Given the description of an element on the screen output the (x, y) to click on. 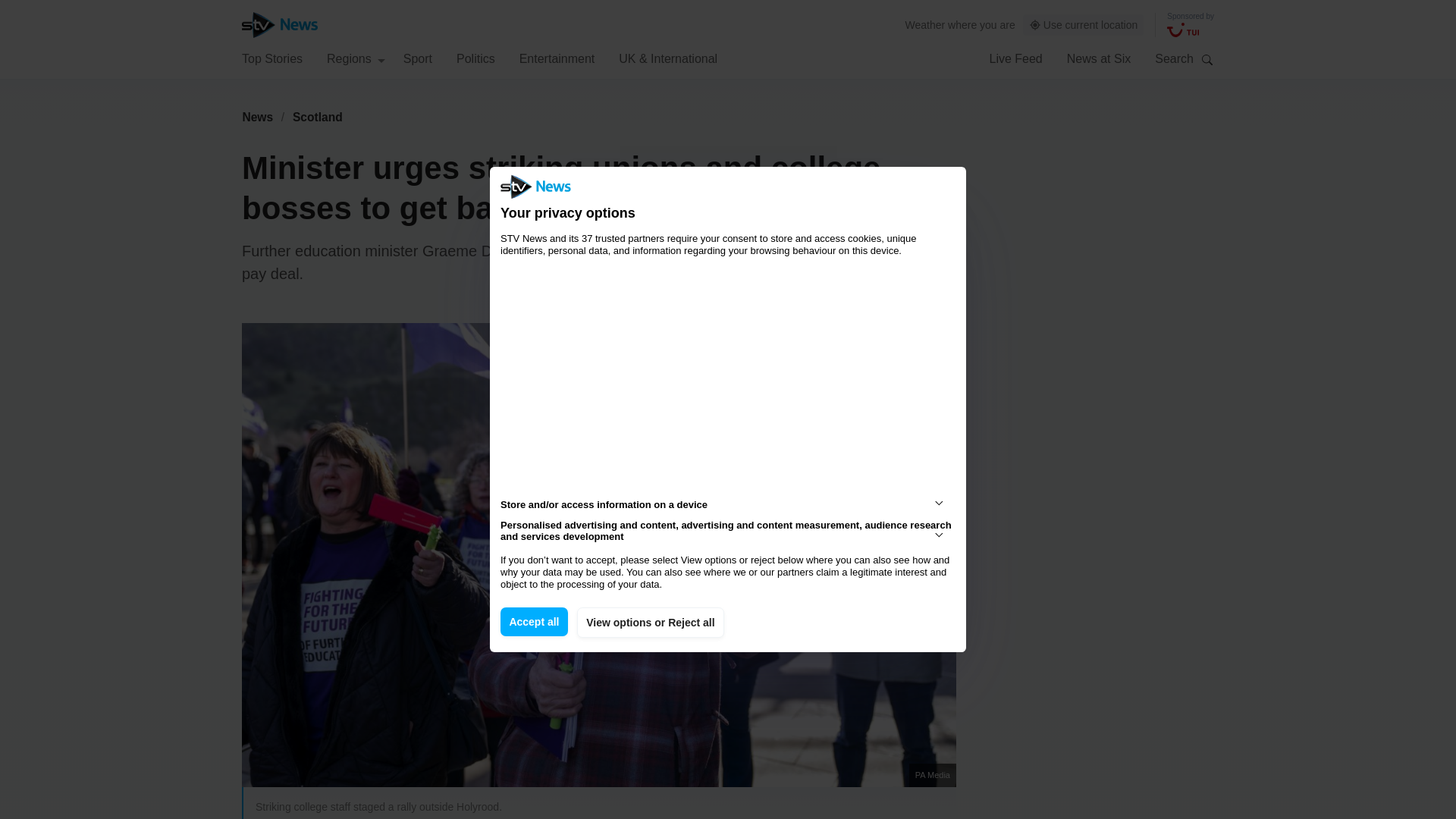
News at Six (1099, 57)
Scotland (317, 116)
Entertainment (557, 57)
Search (1206, 59)
Live Feed (1015, 57)
News (257, 116)
Use current location (1083, 25)
Regions (355, 57)
Weather (924, 24)
Politics (476, 57)
